Given the description of an element on the screen output the (x, y) to click on. 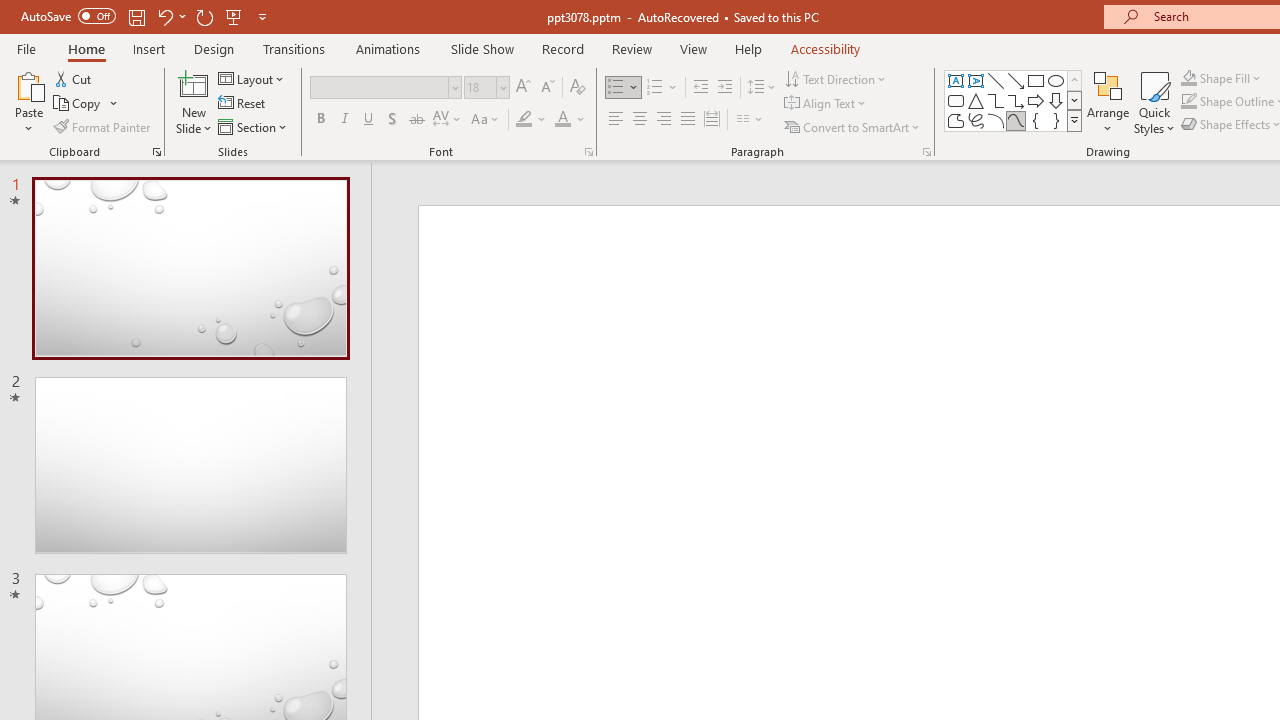
Rectangle (1035, 80)
Line Arrow (1016, 80)
Quick Styles (1154, 102)
Rectangle: Rounded Corners (955, 100)
Shadow (392, 119)
Cut (73, 78)
Connector: Elbow Arrow (1016, 100)
Shape Outline Green, Accent 1 (1188, 101)
Right Brace (1055, 120)
